Given the description of an element on the screen output the (x, y) to click on. 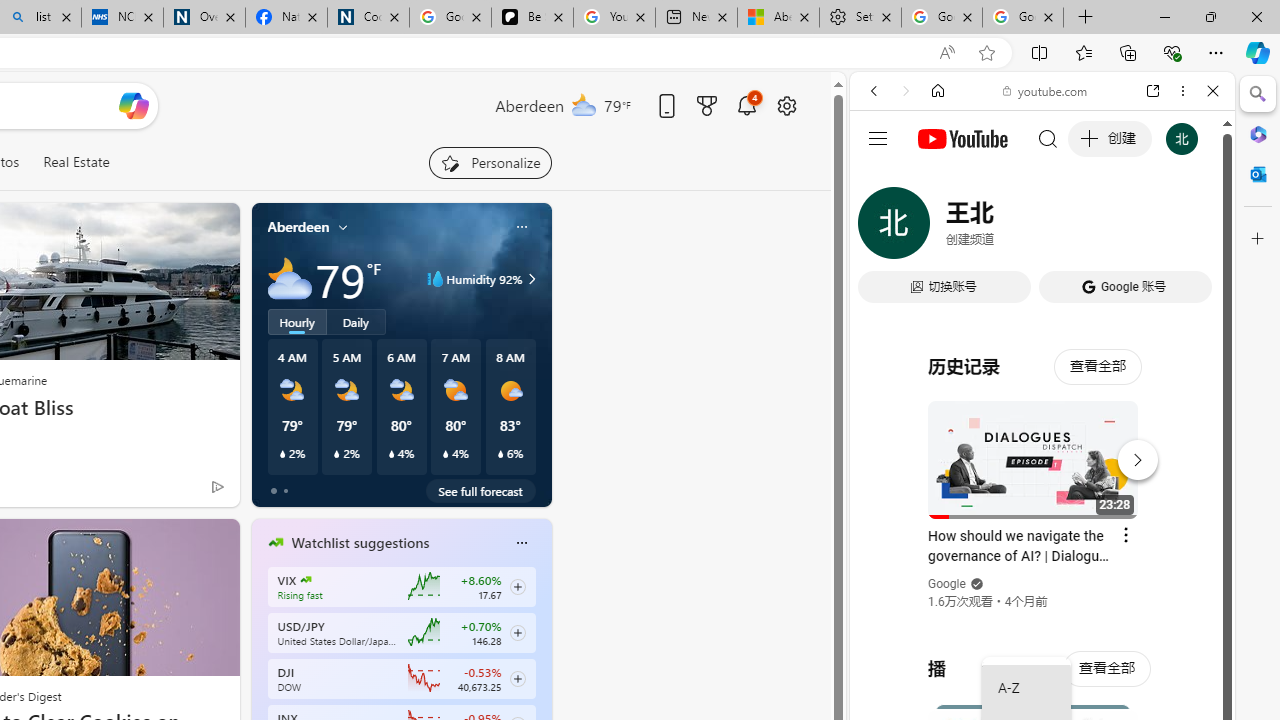
Hide this story (178, 542)
VIDEOS (1006, 228)
Preferences (1189, 228)
Class: weather-arrow-glyph (531, 278)
See more (214, 542)
Home (938, 91)
Notifications (746, 105)
This site scope (936, 180)
#you (1042, 445)
My location (343, 227)
